Given the description of an element on the screen output the (x, y) to click on. 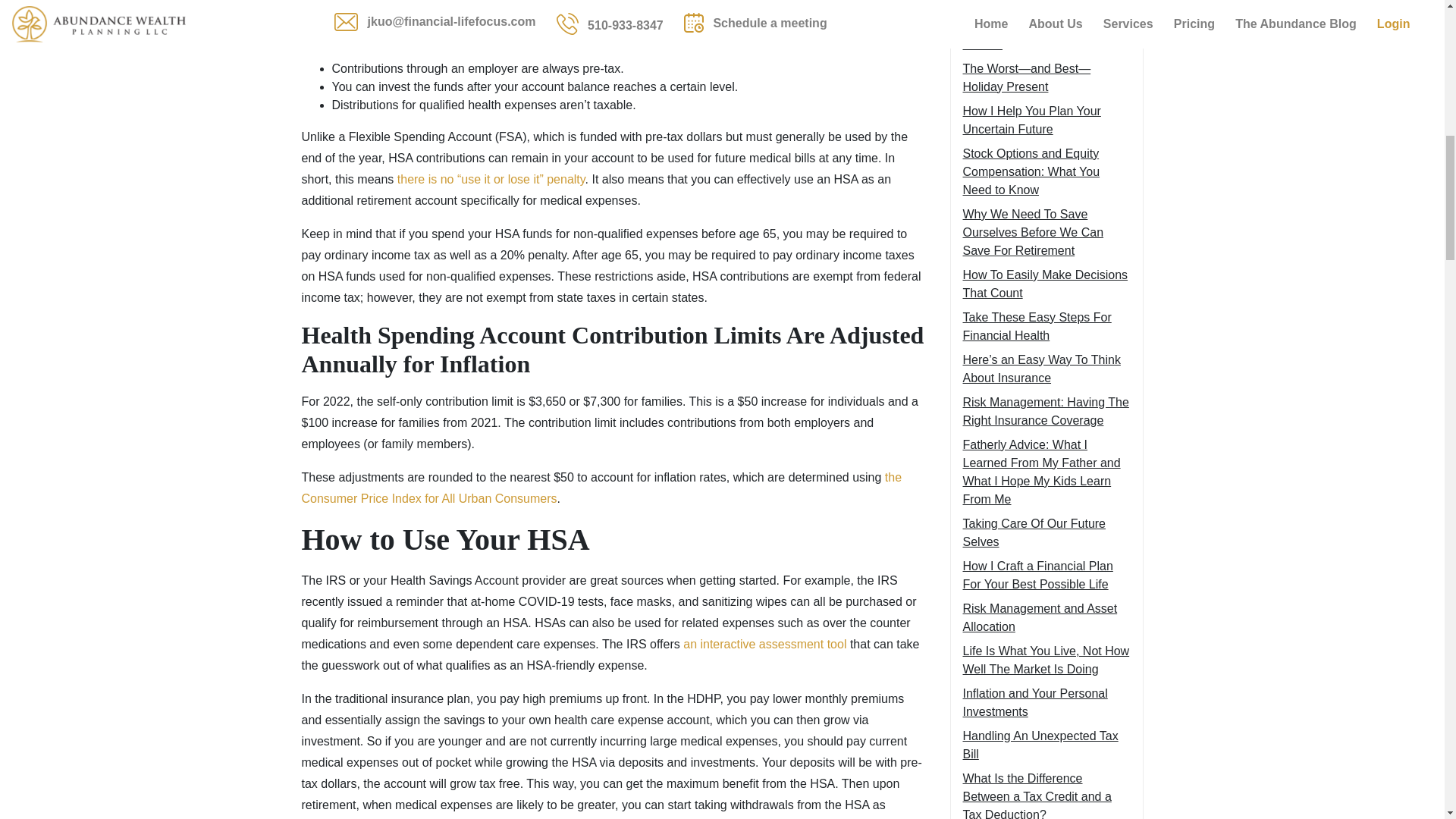
How I Help You Plan Your Uncertain Future (1031, 119)
How To Easily Make Decisions That Count (1045, 283)
Risk Management: Having The Right Insurance Coverage (1045, 410)
Taking Care Of Our Future Selves (1034, 531)
How I Craft a Financial Plan For Your Best Possible Life (1037, 574)
an interactive assessment tool (763, 644)
Stock Options and Equity Compensation: What You Need to Know (1031, 171)
the Consumer Price Index for All Urban Consumers (601, 487)
